Given the description of an element on the screen output the (x, y) to click on. 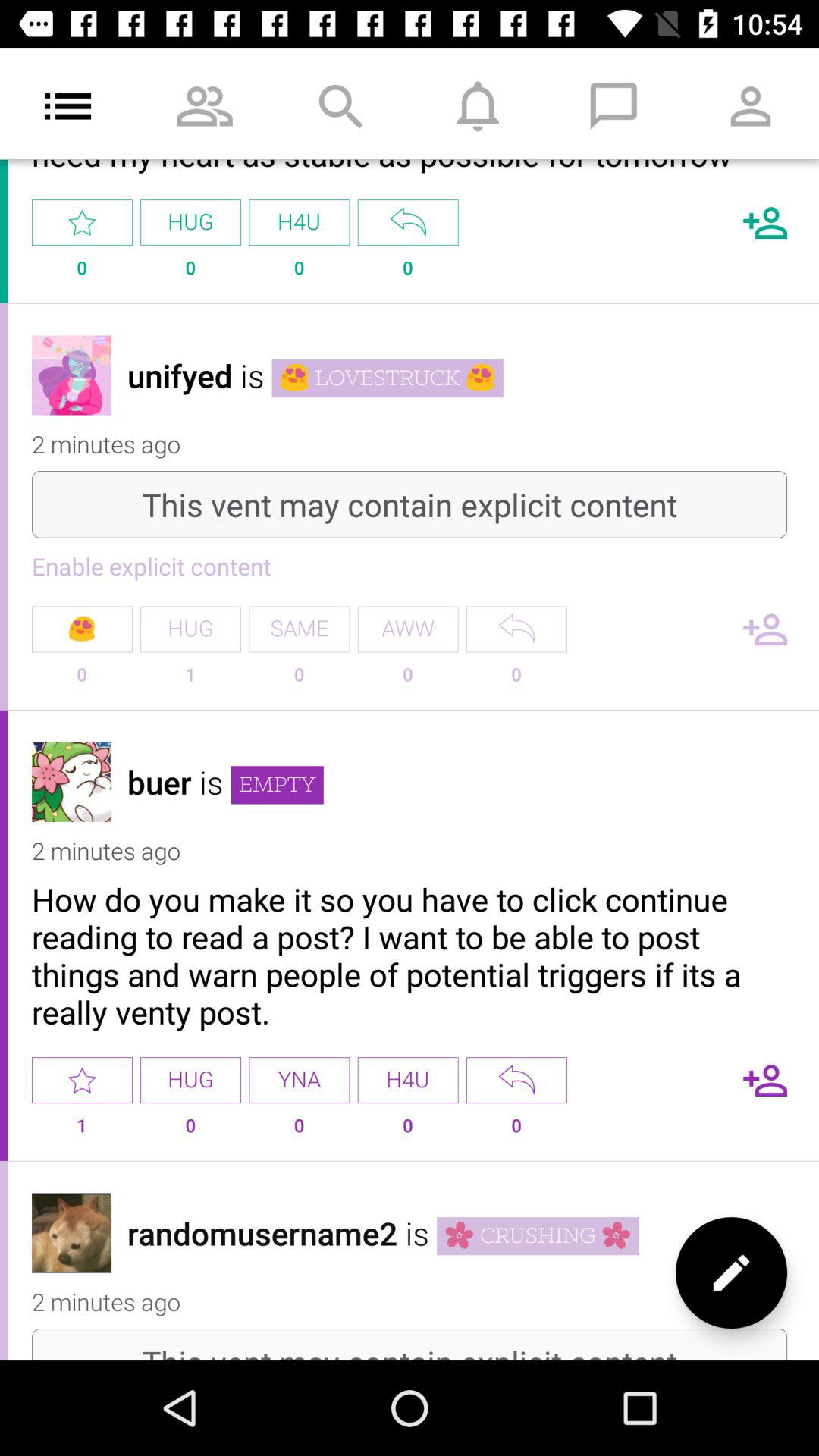
reply to comment (516, 1080)
